Given the description of an element on the screen output the (x, y) to click on. 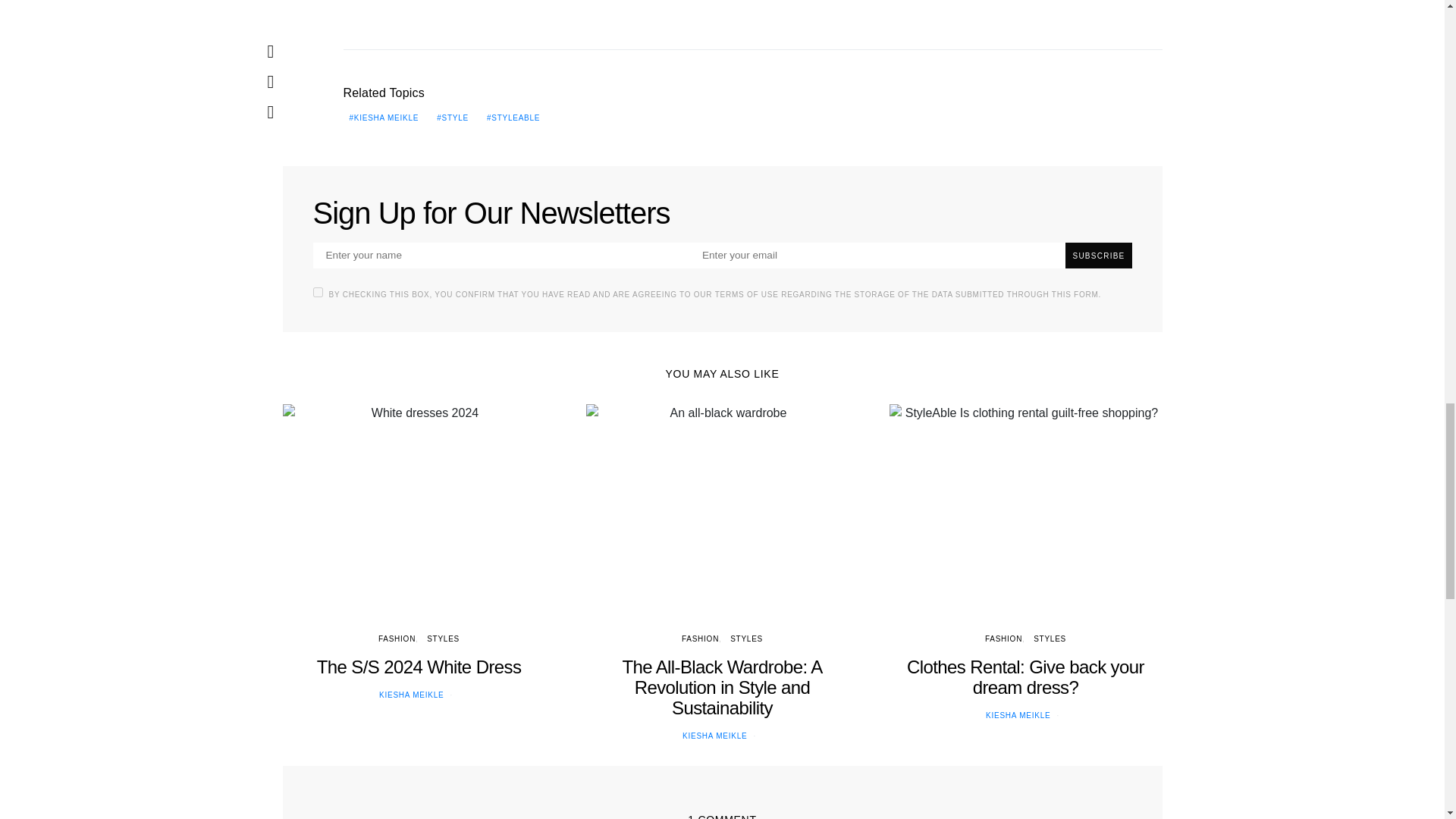
View all posts by Kiesha Meikle (1017, 715)
View all posts by Kiesha Meikle (714, 736)
View all posts by Kiesha Meikle (411, 695)
on (317, 292)
